Given the description of an element on the screen output the (x, y) to click on. 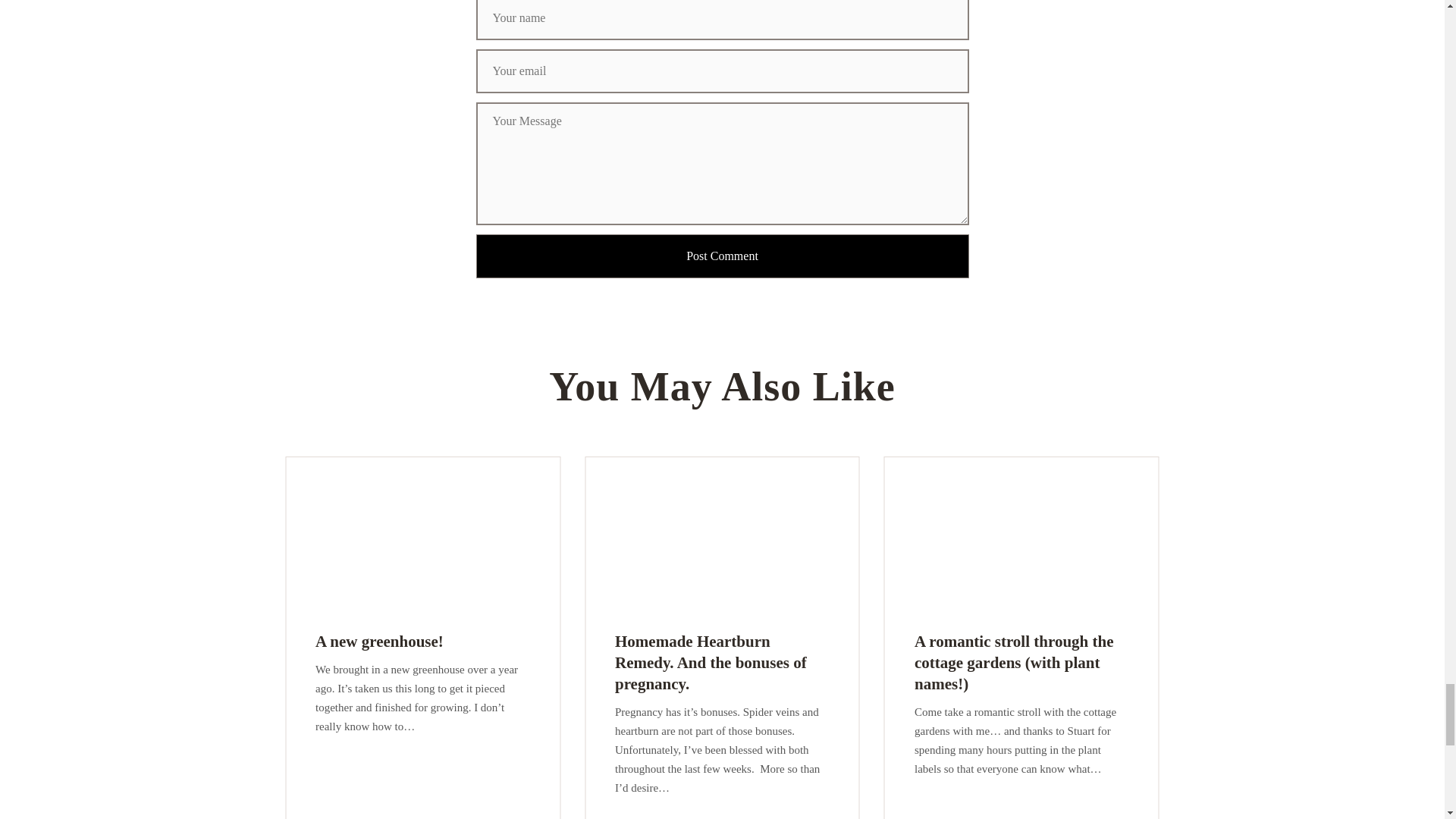
A new greenhouse! (379, 641)
Post Comment (722, 256)
Post Comment (722, 256)
